Given the description of an element on the screen output the (x, y) to click on. 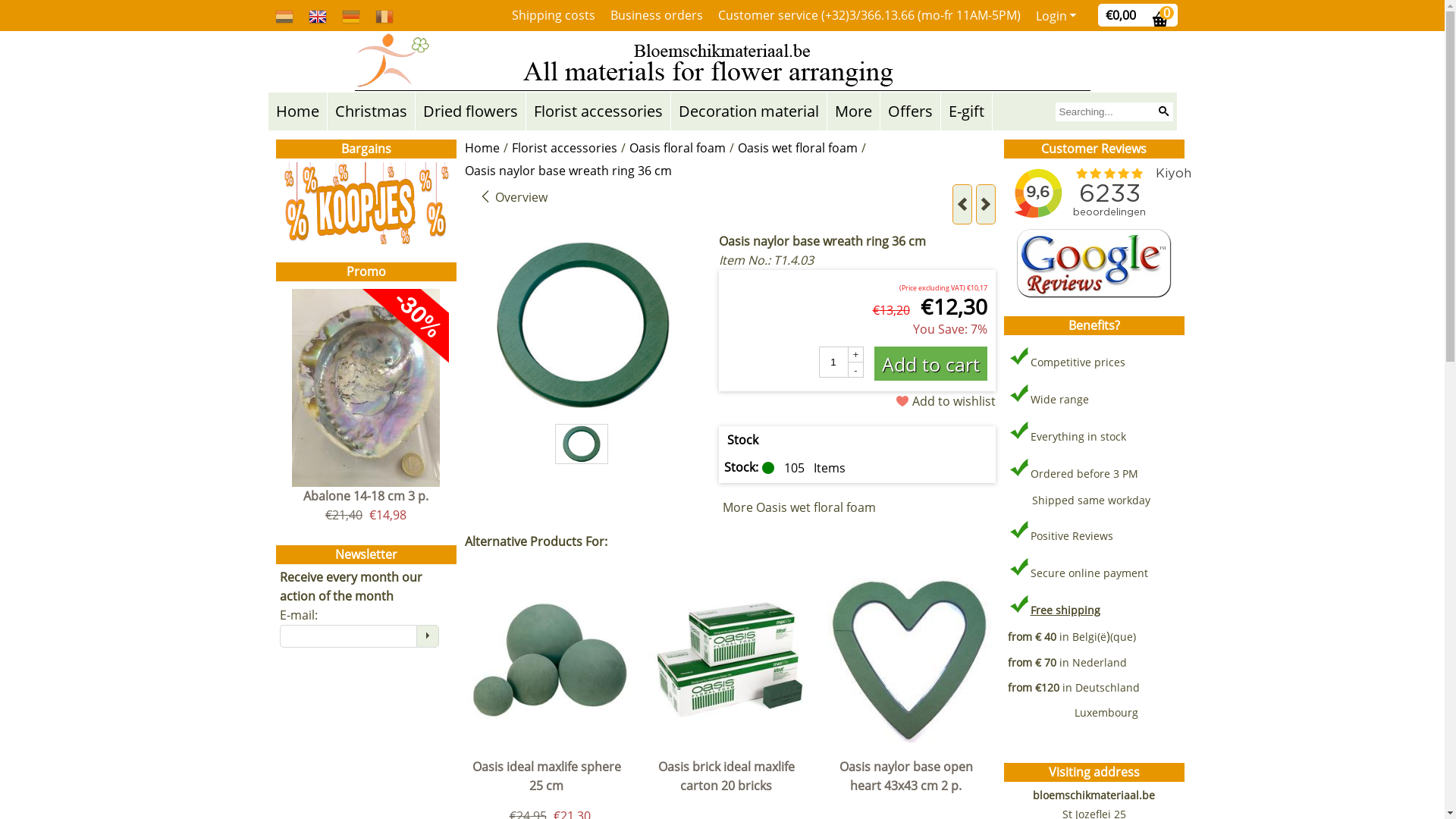
Oasis naylor base wreath ring 36 cm Element type: hover (581, 443)
Florist accessories Element type: text (598, 111)
Home Element type: text (481, 149)
English Element type: hover (316, 14)
More Element type: text (852, 111)
Overview Element type: text (512, 196)
Customer service (+32)3/366.13.66 (mo-fr 11AM-5PM) Element type: text (868, 14)
Login Element type: text (1057, 15)
Home Element type: text (297, 111)
Dried flowers Element type: text (470, 111)
Nederlands Element type: hover (283, 14)
Oasis wet floral foam Element type: text (796, 149)
Oasis ideal maxlife sphere 25 cm Element type: text (549, 780)
Back Element type: hover (962, 204)
Offers Element type: text (909, 111)
Shipping costs Element type: text (552, 14)
Oasis floral foam Element type: text (677, 149)
Oasis naylor base wreath ring 36 cm Element type: hover (582, 324)
Deutsch Element type: hover (350, 14)
Oasis brick ideal maxlife carton 20 bricks Element type: text (728, 780)
Oasis naylor base wreath ring 36 cm Element type: text (567, 172)
Florist accessories Element type: text (563, 149)
Oasis naylor base open heart 43x43 cm 2 p. Element type: text (909, 780)
Abalone 14-18 cm 3 p. Element type: text (365, 495)
Decoration material Element type: text (747, 111)
More Oasis wet floral foam Element type: text (798, 506)
E-gift Element type: text (965, 111)
Christmas Element type: text (370, 111)
Next Element type: hover (984, 204)
Business orders Element type: text (655, 14)
Add to cart Element type: text (929, 363)
